Given the description of an element on the screen output the (x, y) to click on. 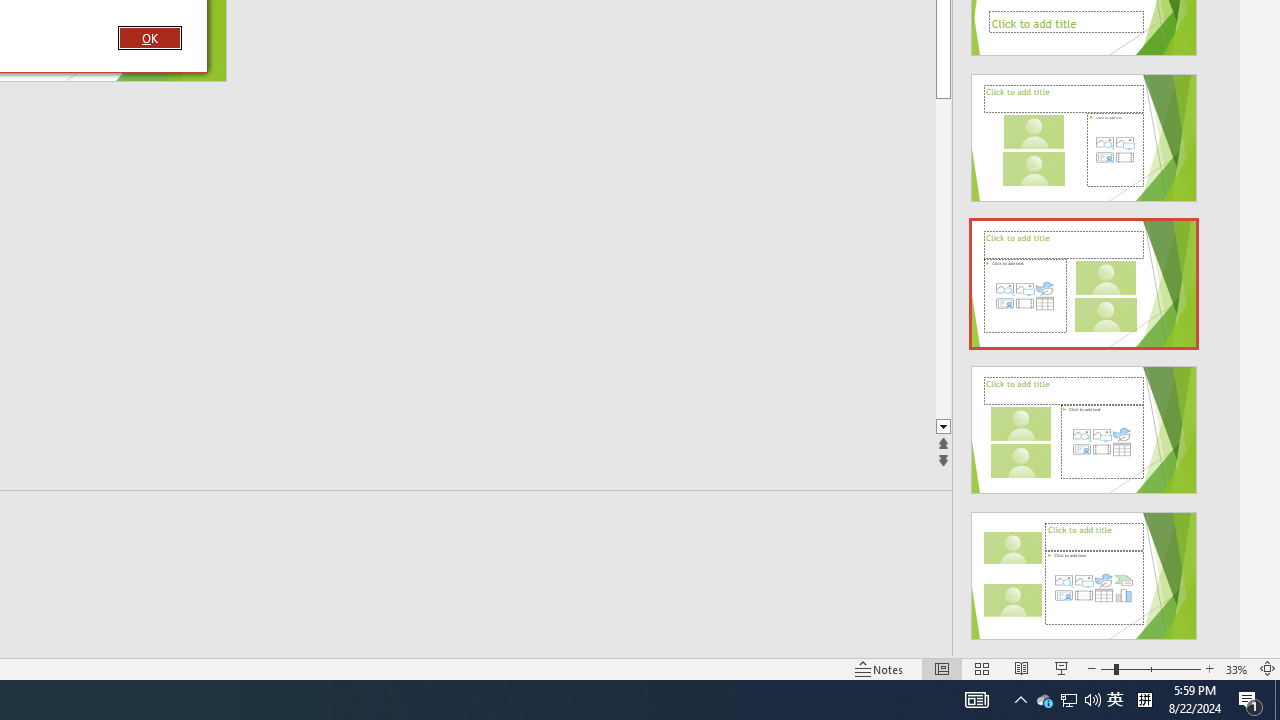
Zoom 33% (1236, 668)
